Given the description of an element on the screen output the (x, y) to click on. 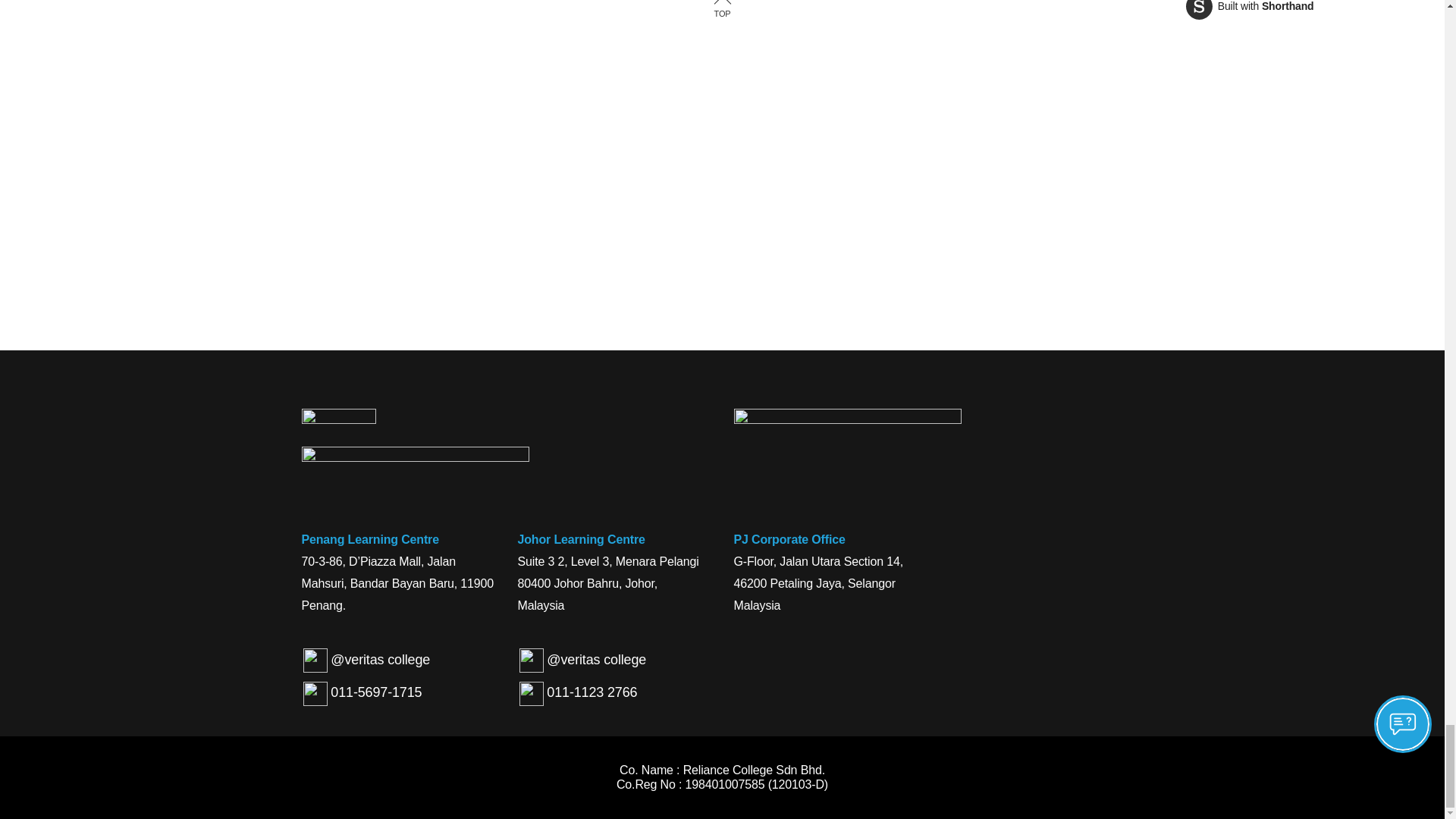
011-1123 2766 (577, 692)
TOP (1250, 9)
011-5697-1715 (721, 11)
